Given the description of an element on the screen output the (x, y) to click on. 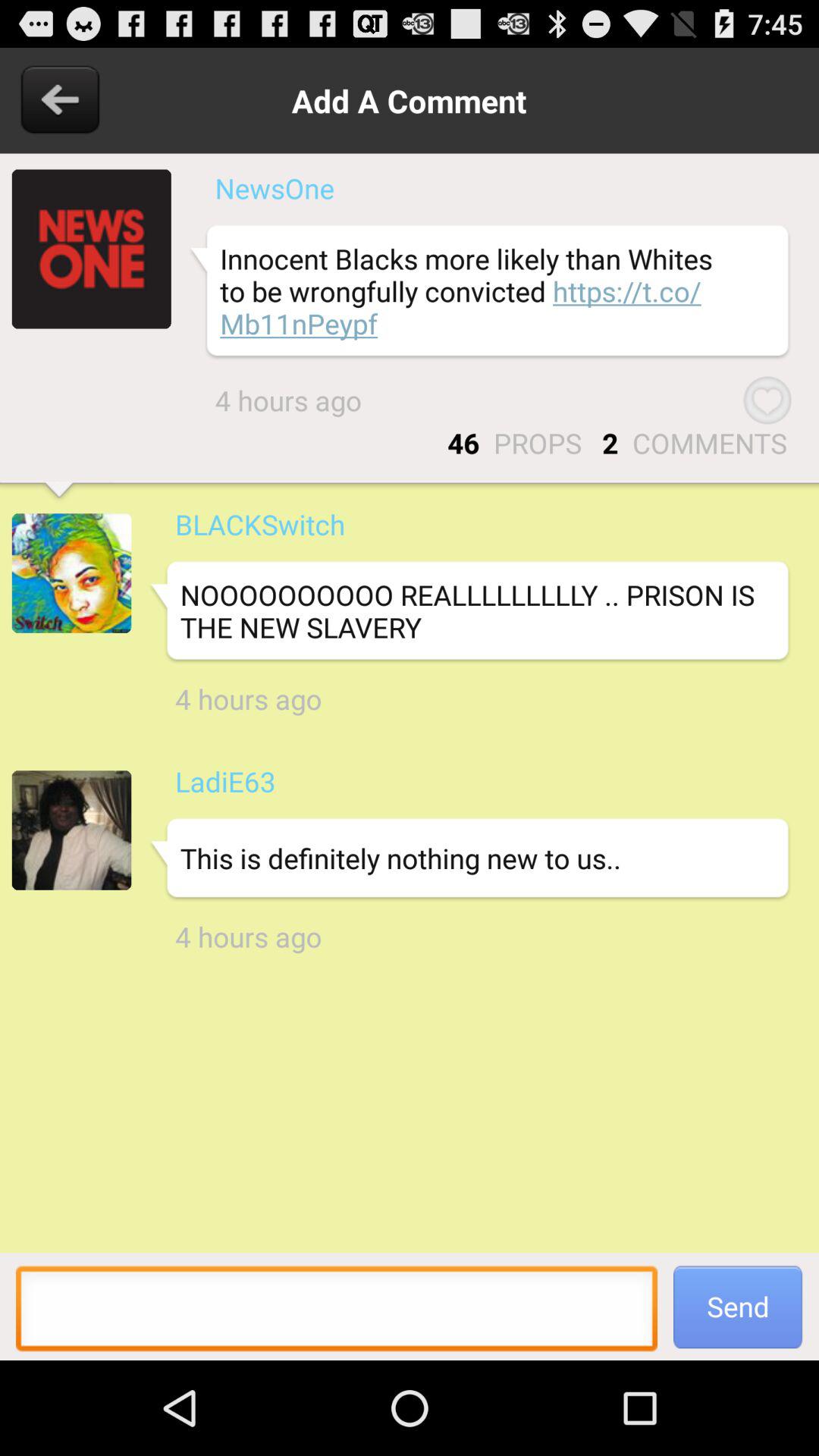
turn on the noooooooooo reallllllllly prison icon (469, 611)
